Given the description of an element on the screen output the (x, y) to click on. 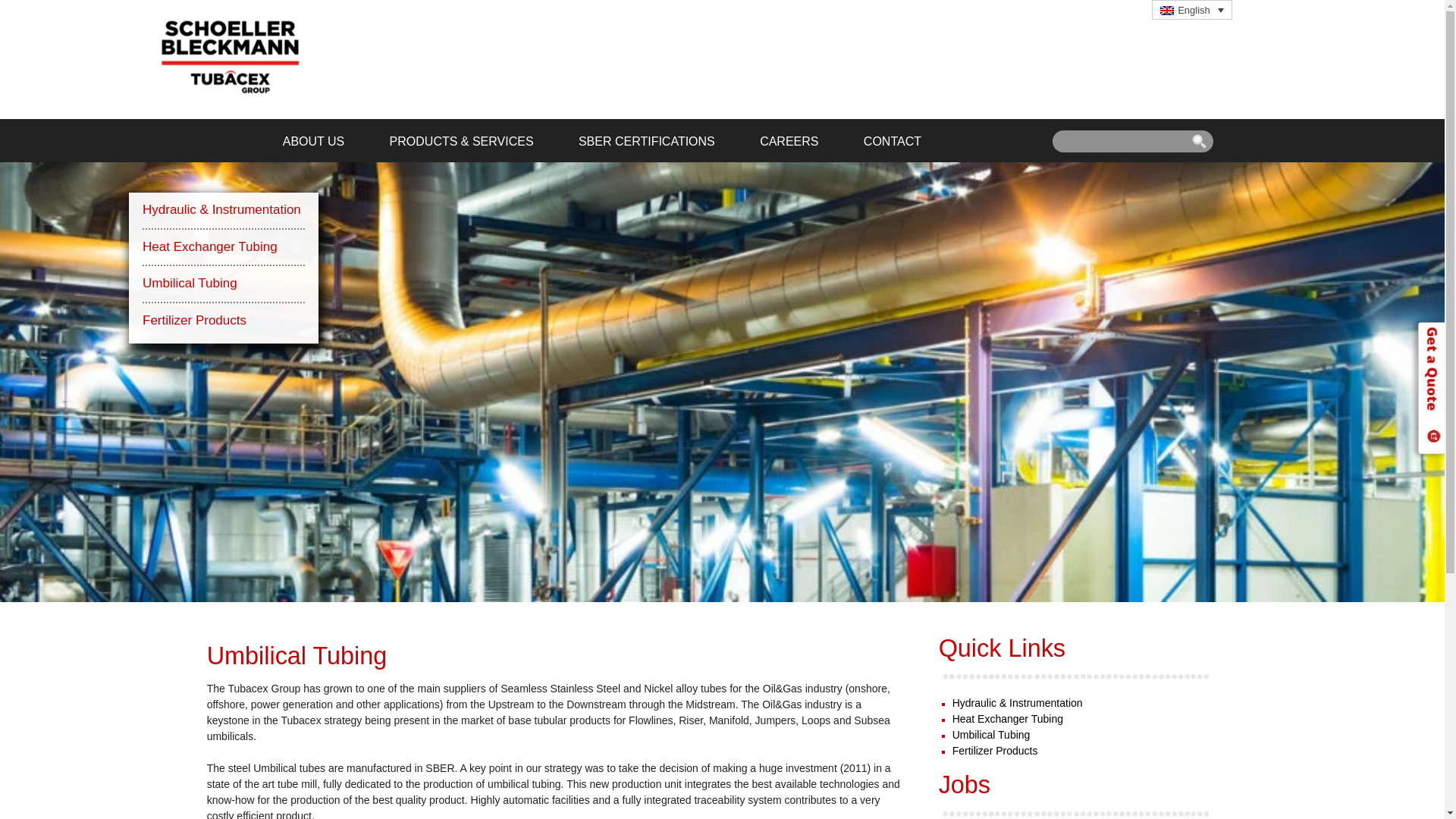
Fertilizer Products (995, 750)
Umbilical Tubing (223, 284)
Heat Exchanger Tubing (1007, 718)
English (1191, 9)
CAREERS (789, 140)
Heat Exchanger Tubing (223, 248)
Umbilical Tubing (991, 734)
CONTACT (892, 140)
Fertilizer Products (223, 316)
ABOUT US (314, 140)
SBER CERTIFICATIONS (646, 140)
